Given the description of an element on the screen output the (x, y) to click on. 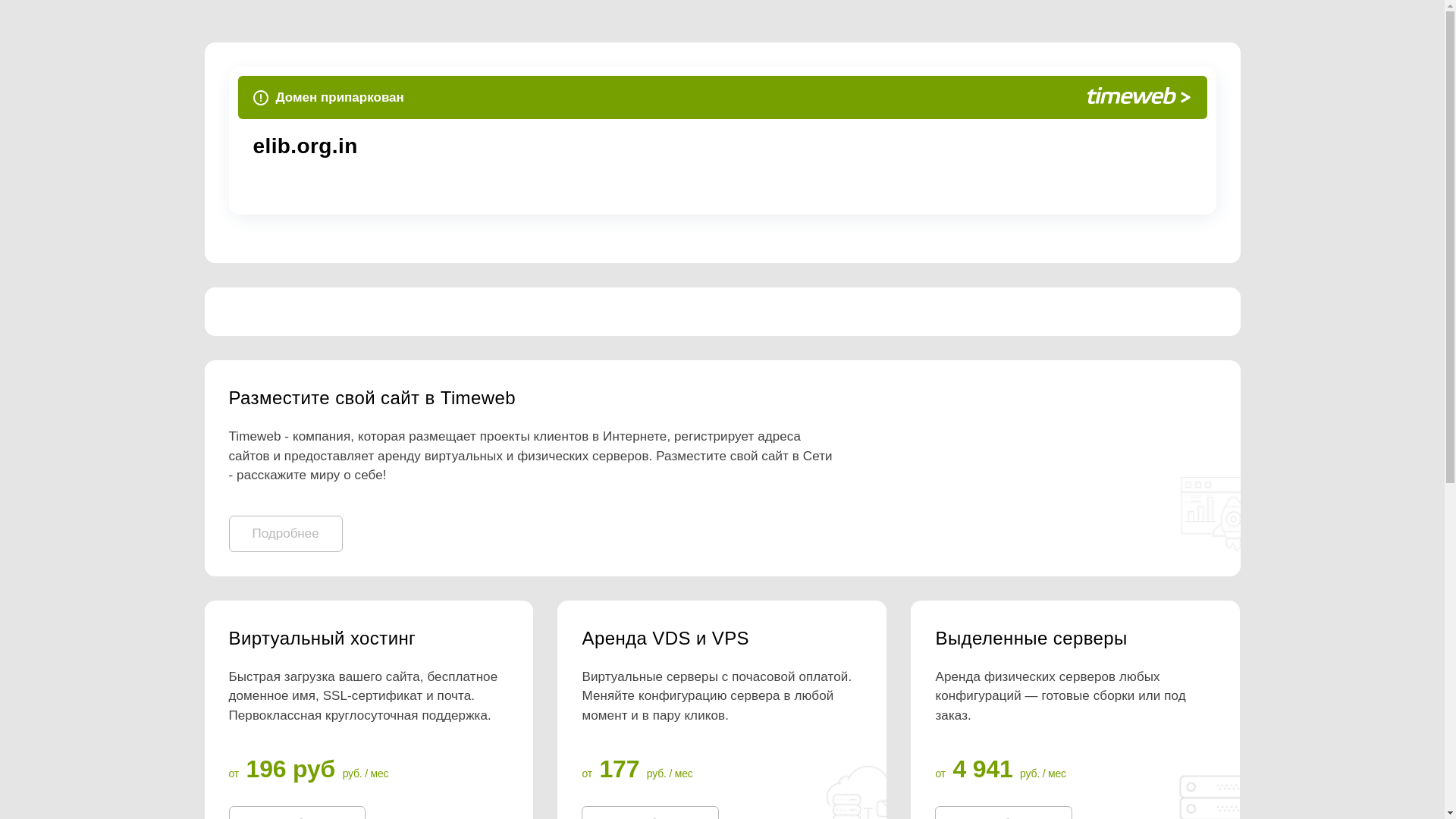
VDS (720, 637)
apt.ru (481, 146)
